Given the description of an element on the screen output the (x, y) to click on. 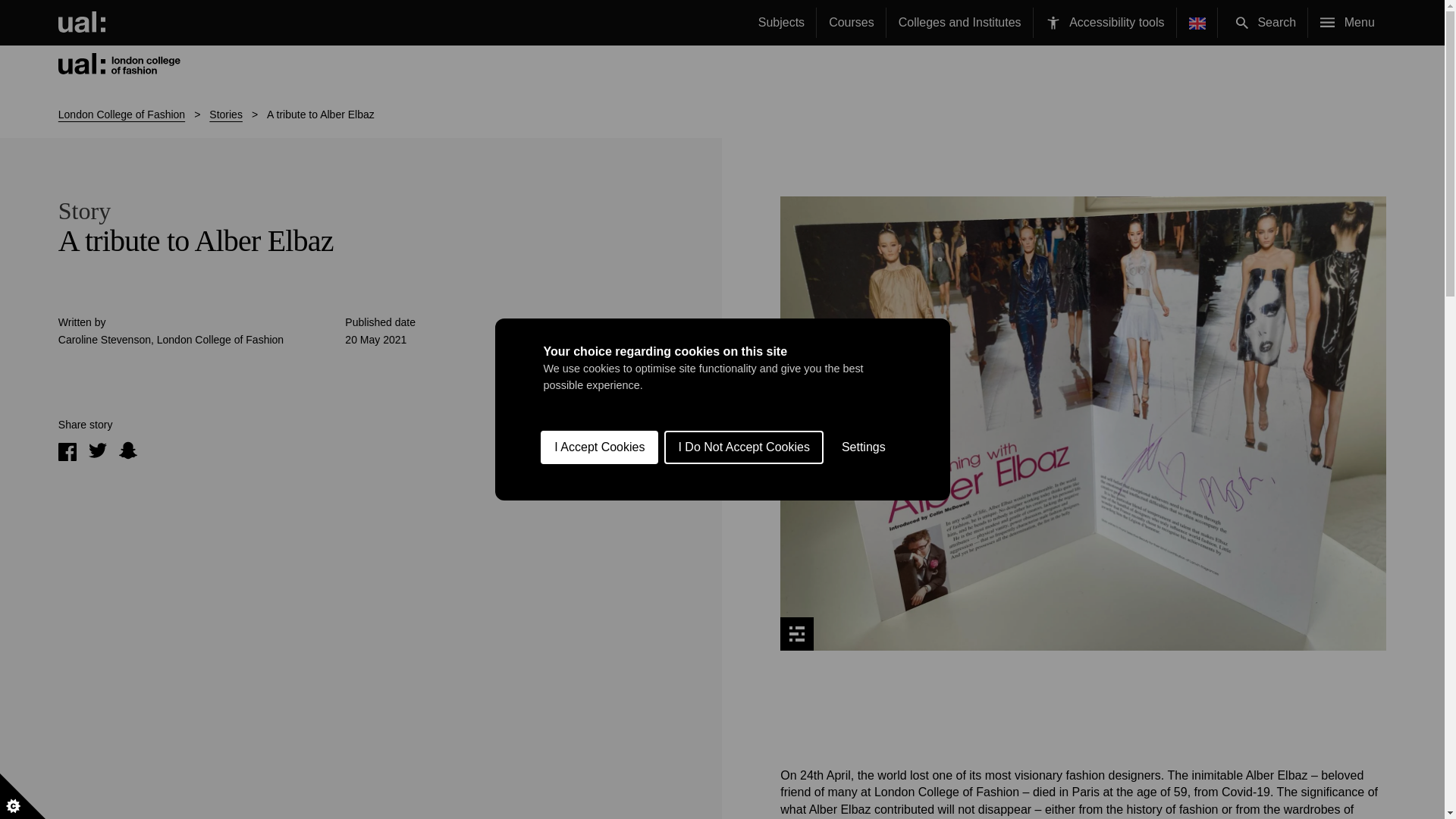
Courses (851, 22)
Search (1241, 22)
Accessibility setting Accessibility tools (1104, 22)
Menu (1347, 22)
I Accept Cookies (599, 647)
Accessibility setting (1053, 22)
Settings (863, 596)
Search Search (1265, 22)
Subjects (780, 22)
Colleges and Institutes (959, 22)
